Given the description of an element on the screen output the (x, y) to click on. 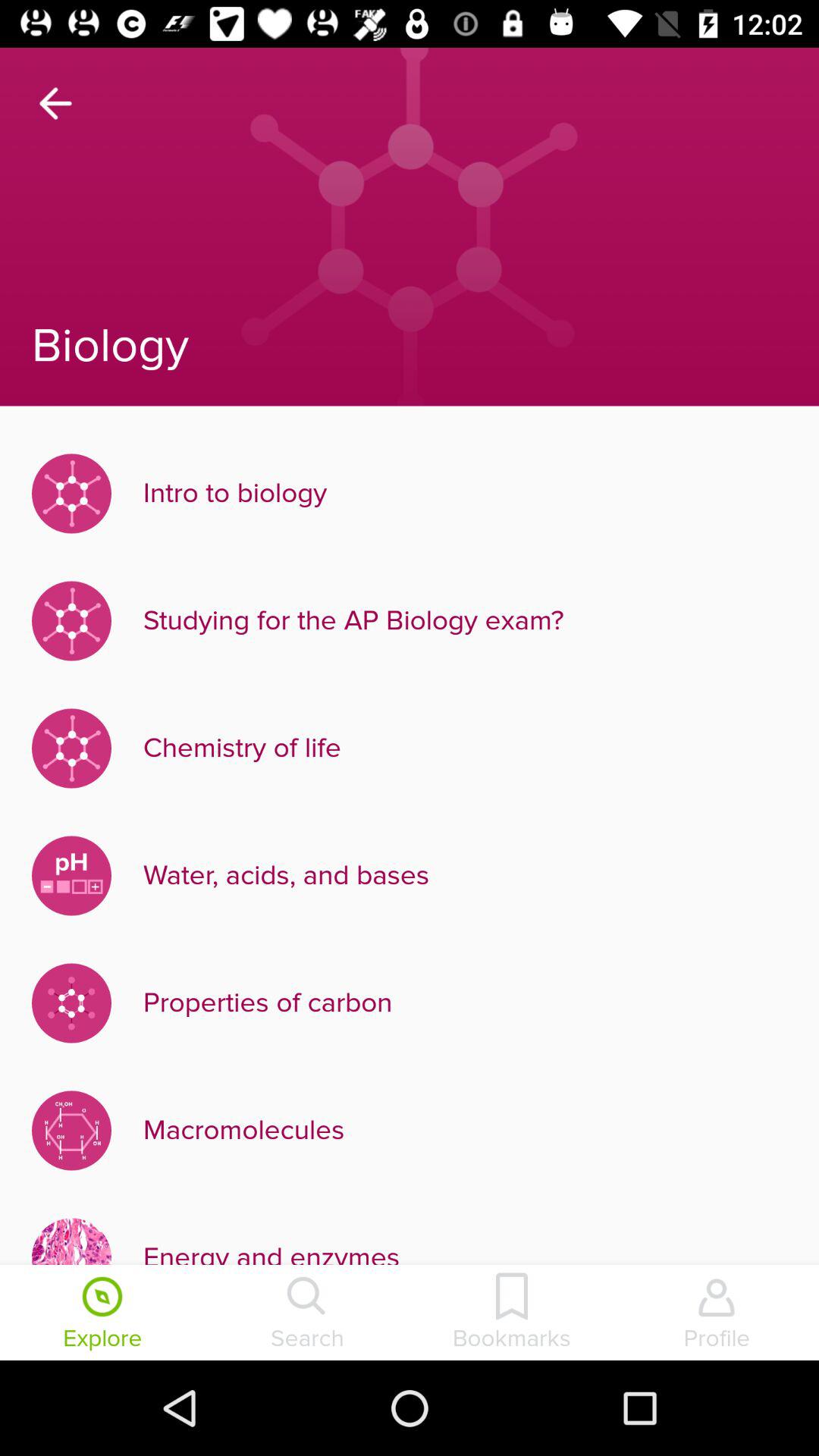
turn on the item to the left of search icon (102, 1314)
